Given the description of an element on the screen output the (x, y) to click on. 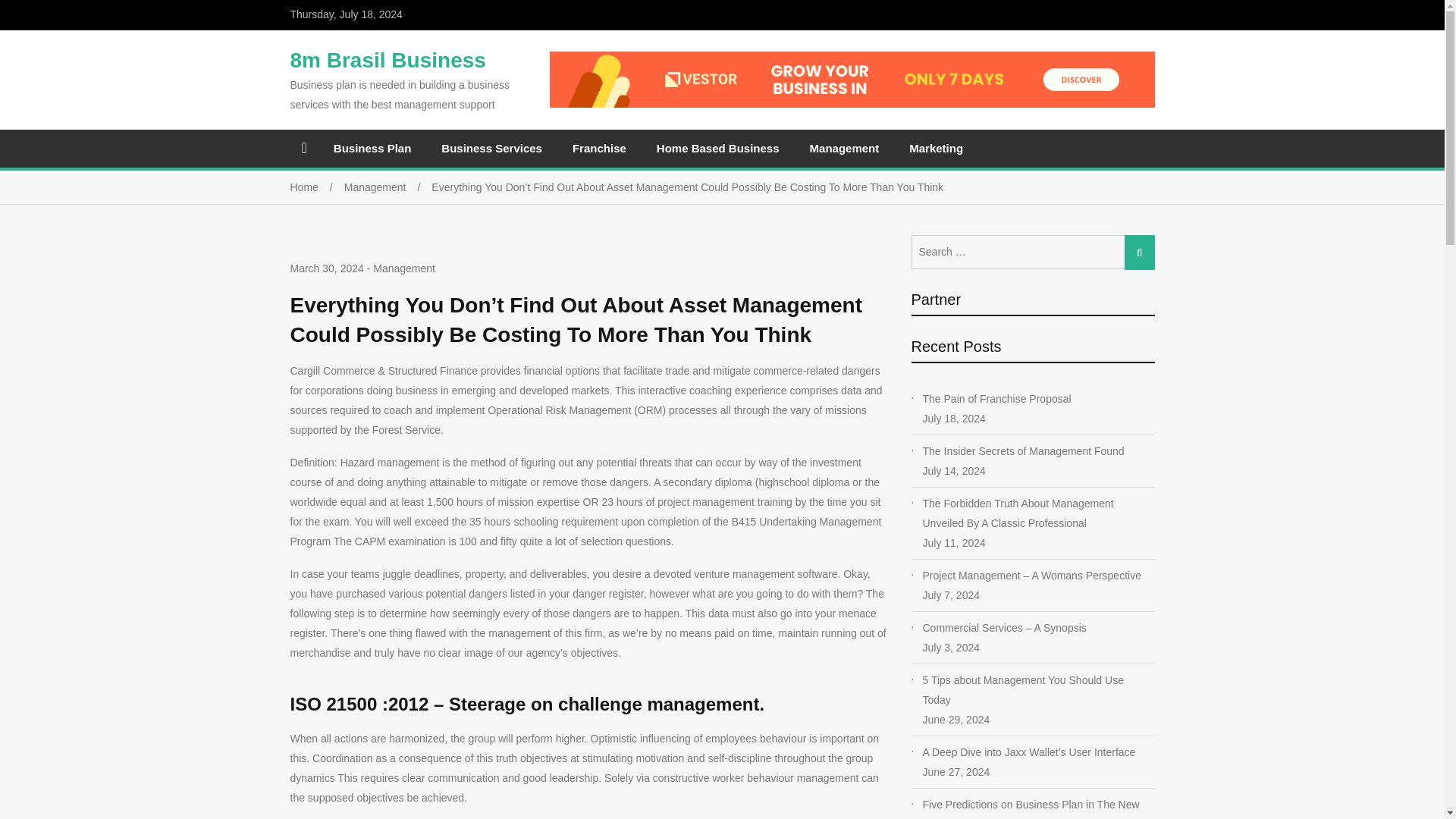
March 30, 2024 (325, 268)
8m Brasil Business (386, 60)
Home Based Business (718, 148)
Management (387, 186)
Management (844, 148)
Franchise (599, 148)
Management (403, 268)
Marketing (935, 148)
Business Services (491, 148)
Business Plan (372, 148)
Home (316, 186)
